Given the description of an element on the screen output the (x, y) to click on. 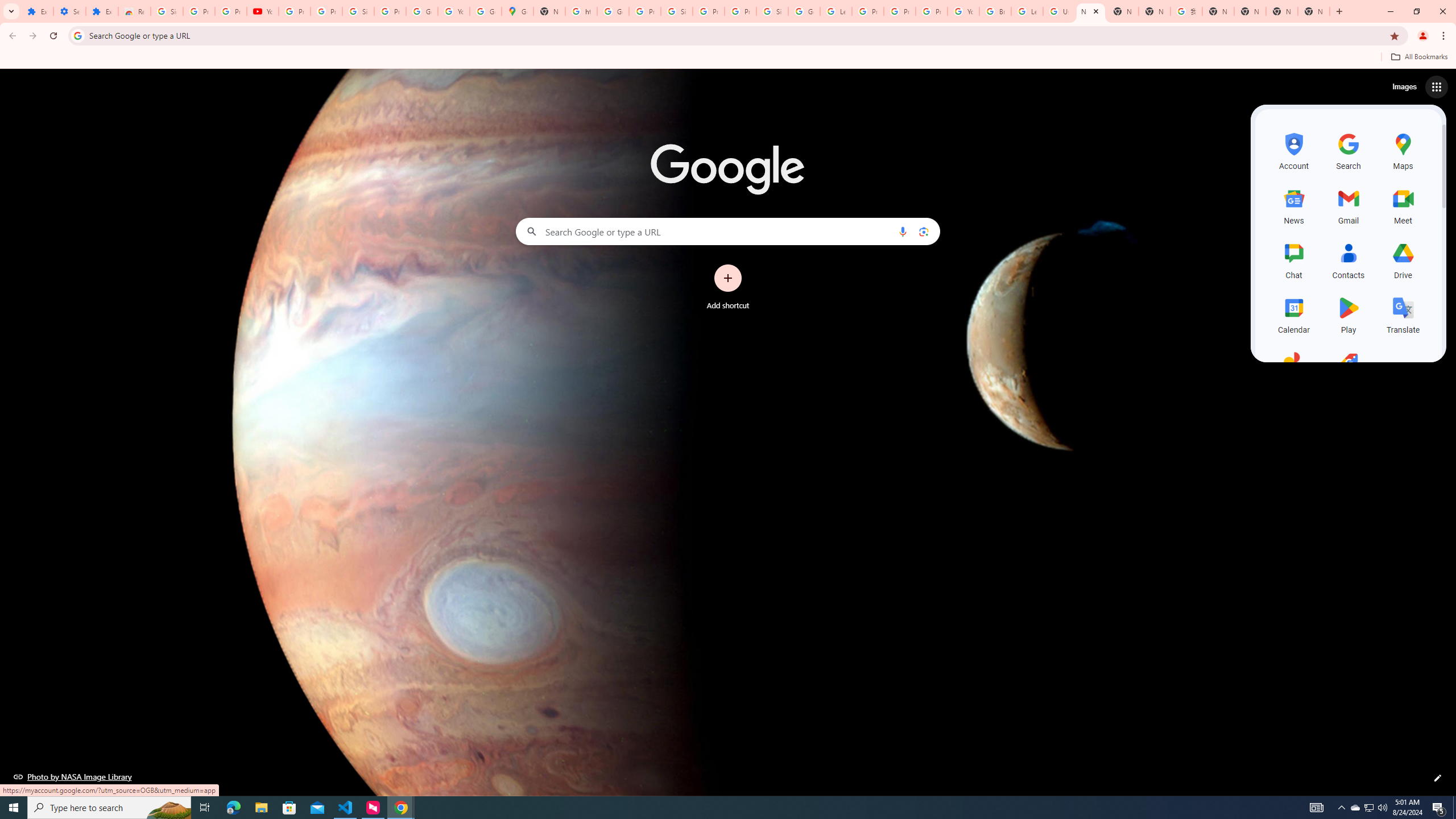
YouTube (963, 11)
Search, row 1 of 5 and column 2 of 3 in the first section (1348, 149)
Gmail, row 2 of 5 and column 2 of 3 in the first section (1348, 204)
Bookmarks (728, 58)
New Tab (1313, 11)
Sign in - Google Accounts (772, 11)
